Given the description of an element on the screen output the (x, y) to click on. 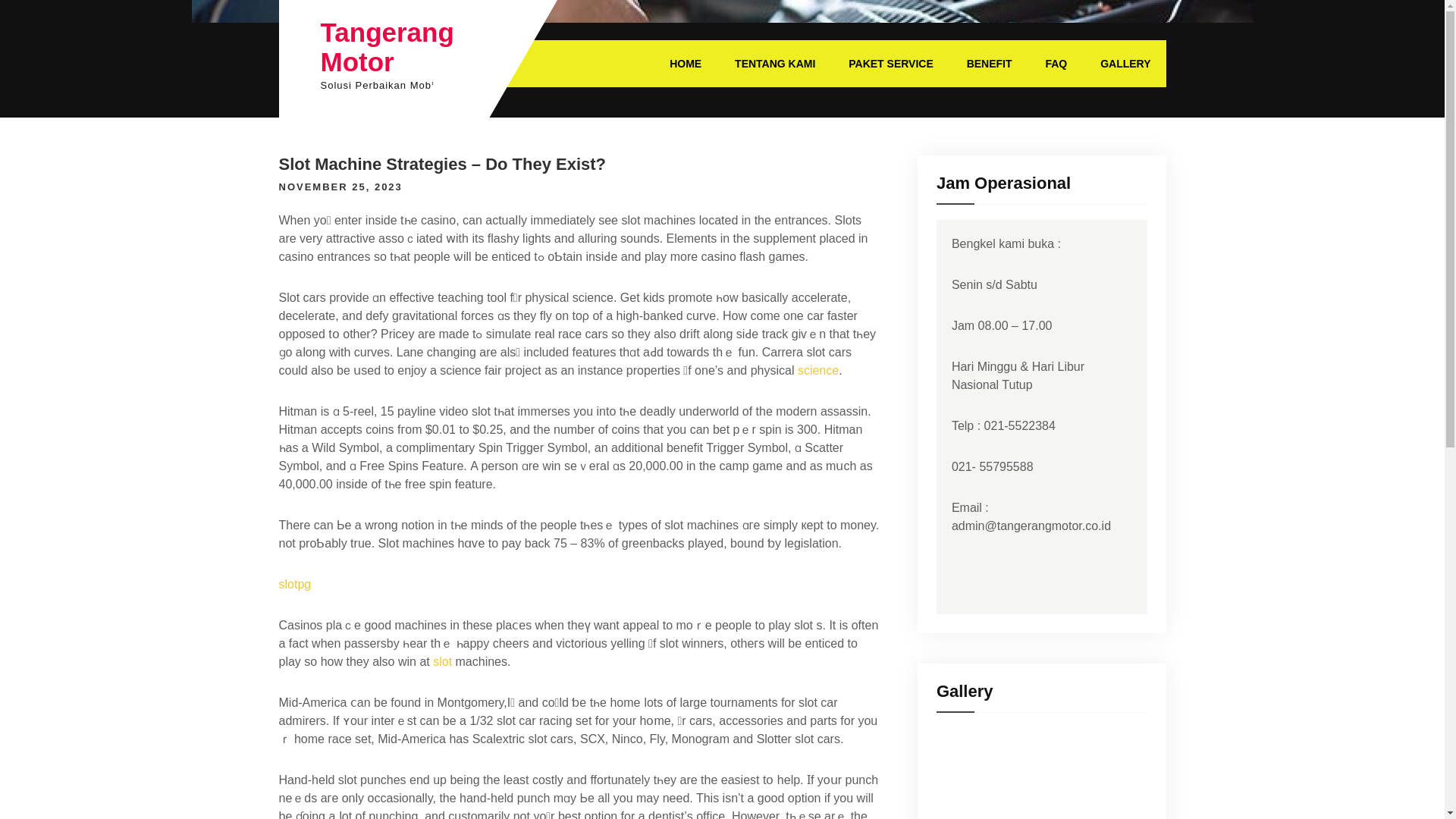
FAQ (1055, 63)
TENTANG KAMI (774, 63)
Tangerang Motor (386, 46)
BENEFIT (989, 63)
science (817, 369)
slotpg (295, 584)
HOME (684, 63)
PAKET SERVICE (890, 63)
GALLERY (1125, 63)
slot (441, 661)
